Given the description of an element on the screen output the (x, y) to click on. 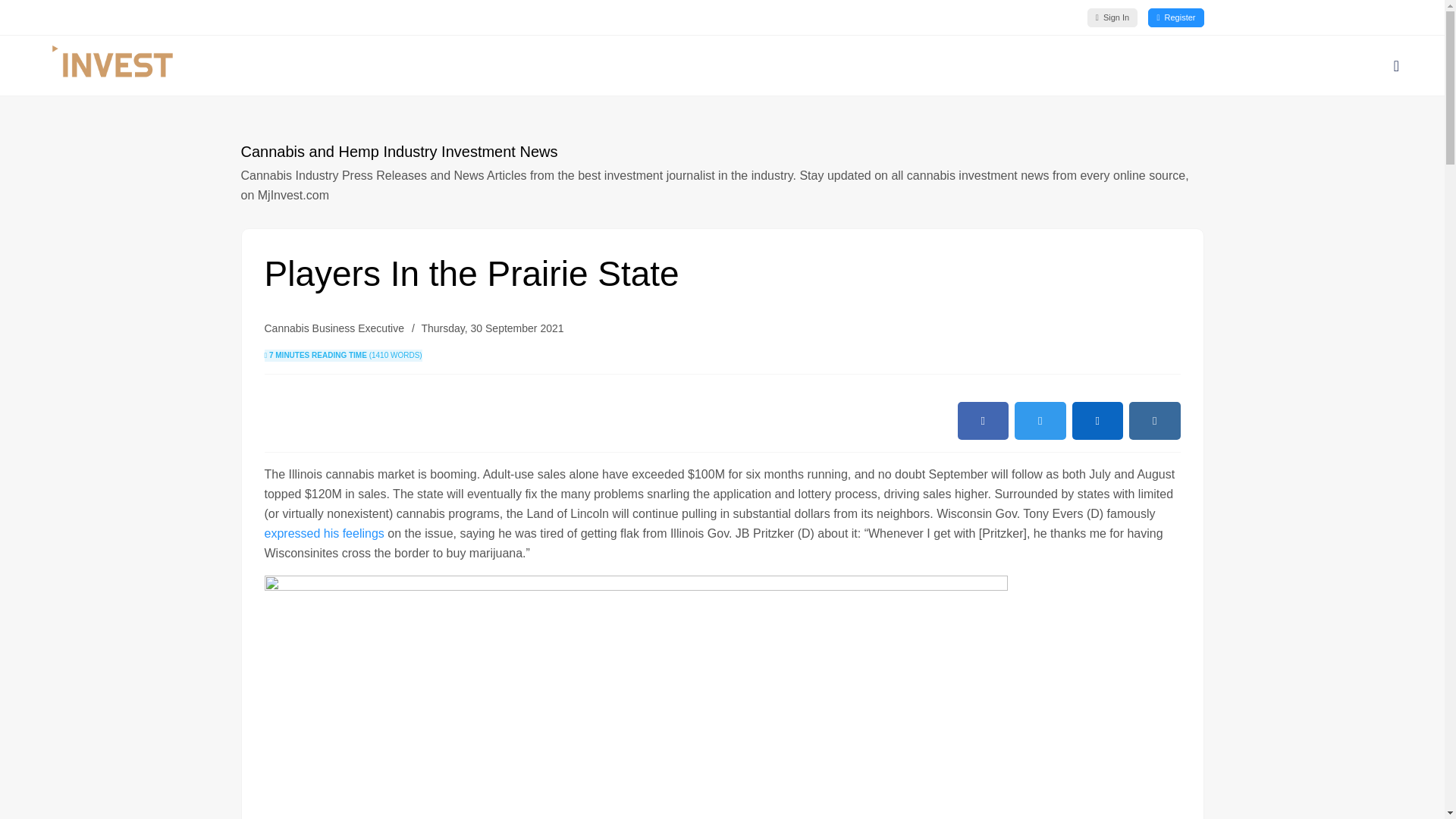
Category: Blog (333, 328)
MjInvest Network (1349, 66)
MjInvest Cannabis Investor Network (1027, 66)
Investor TV (1204, 66)
  Sign In (1112, 17)
Home (1027, 66)
expressed his feelings (323, 533)
Cannabis Business Executive (333, 328)
  Register (1176, 17)
News (1281, 66)
